Given the description of an element on the screen output the (x, y) to click on. 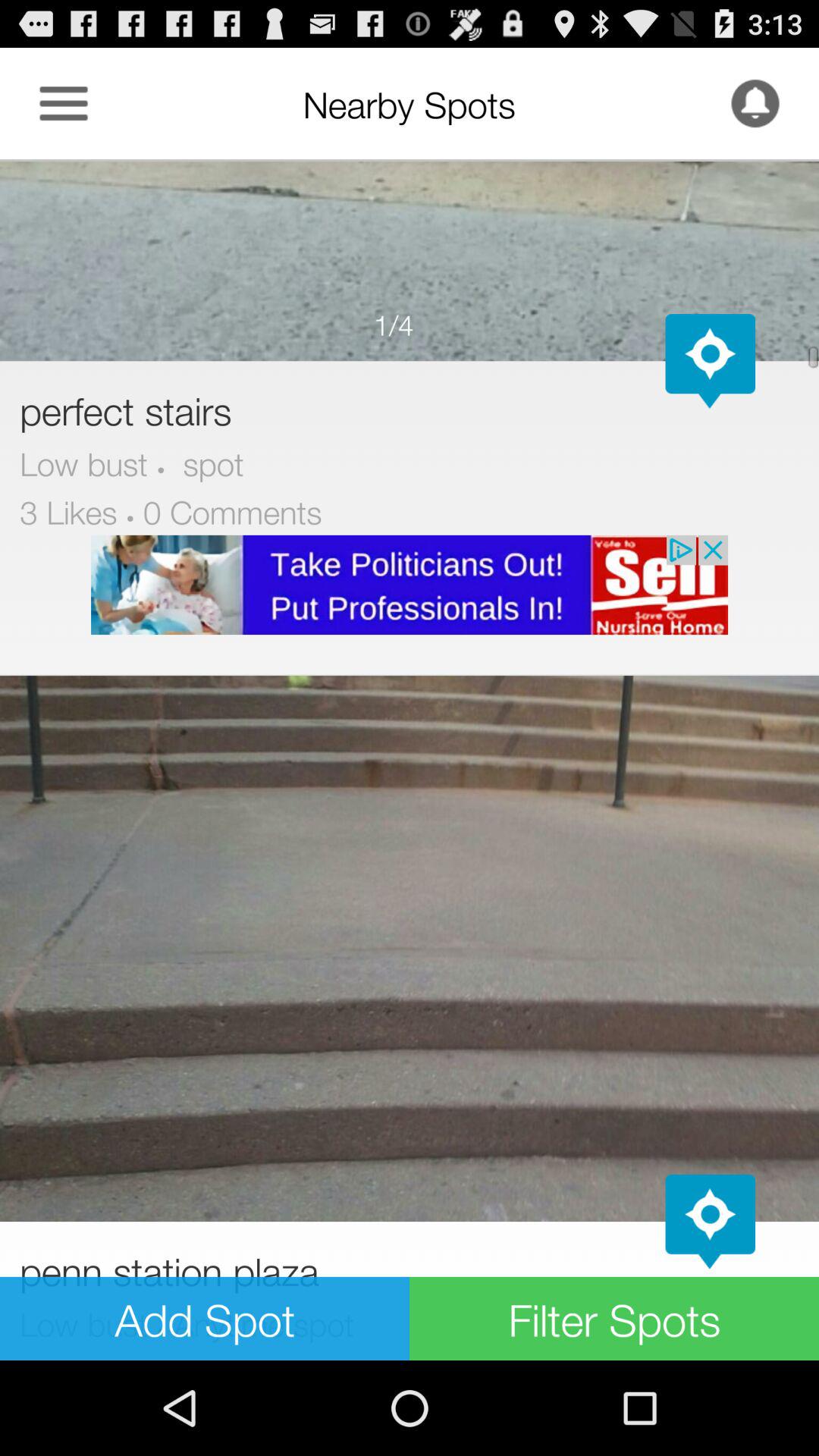
interactive image (409, 260)
